Given the description of an element on the screen output the (x, y) to click on. 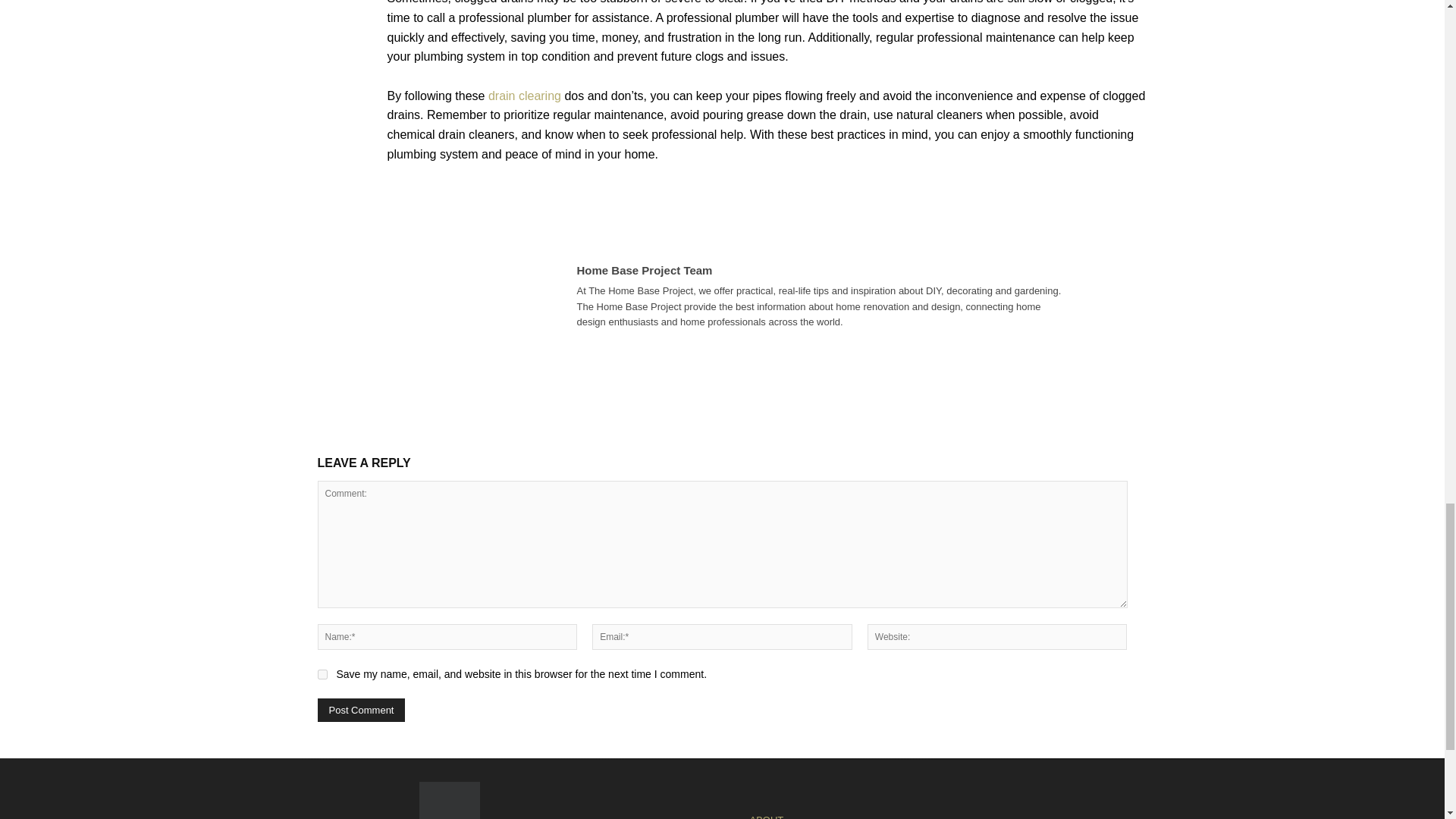
Home Base Project Team (511, 297)
yes (321, 674)
Post Comment (360, 709)
Home Base Project (449, 800)
Home Base Project (448, 800)
